Given the description of an element on the screen output the (x, y) to click on. 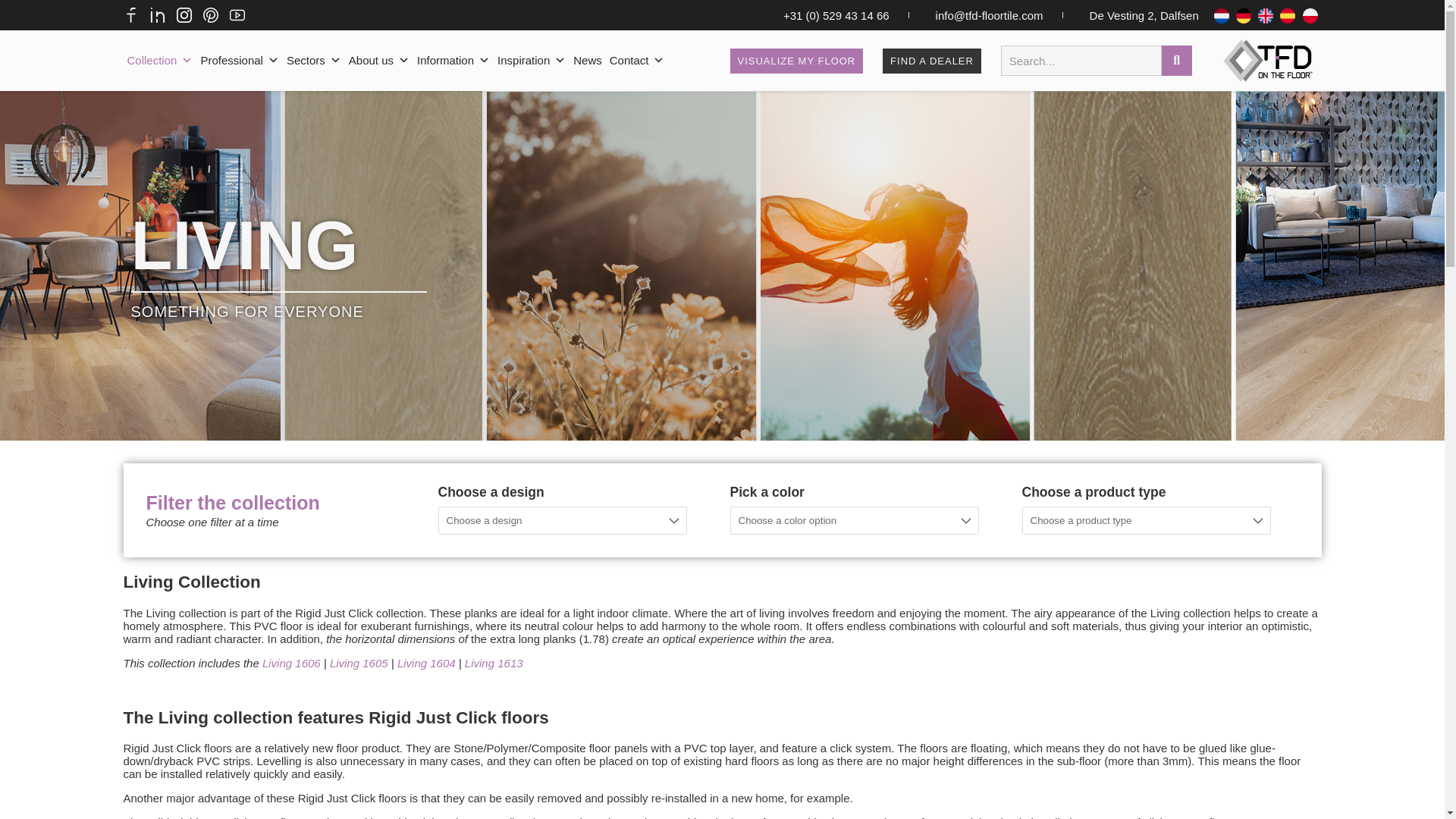
Search (1176, 60)
Collection (159, 60)
Search (1081, 60)
